Given the description of an element on the screen output the (x, y) to click on. 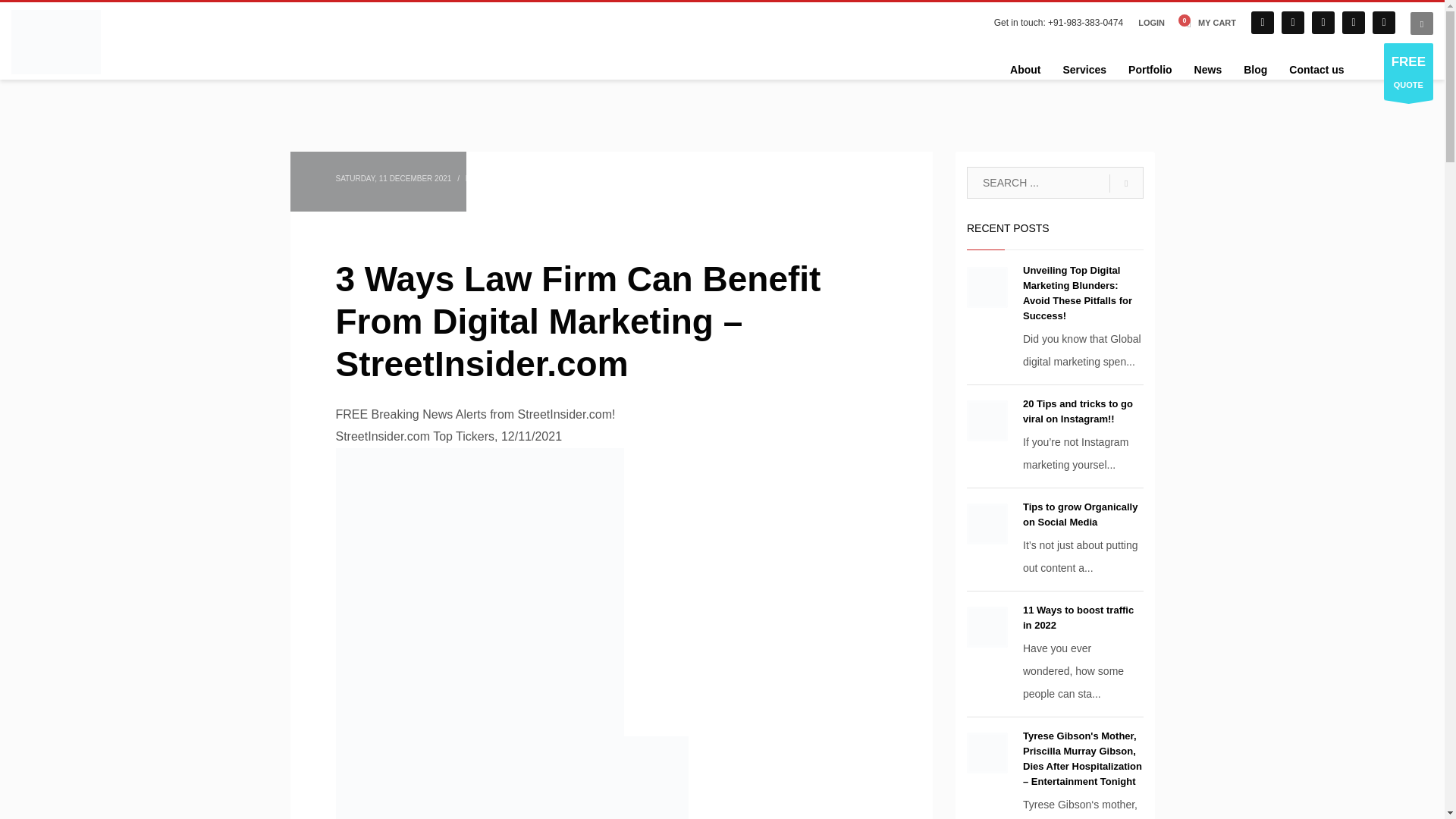
Services (1083, 69)
Contact us (1315, 69)
LOGIN (1151, 22)
believe in (55, 41)
NEWS (531, 178)
Blog (1255, 69)
View your shopping cart (1207, 22)
News (1208, 69)
Portfolio (1149, 69)
About (1025, 69)
facebook (1262, 22)
MY CART (1207, 22)
